Given the description of an element on the screen output the (x, y) to click on. 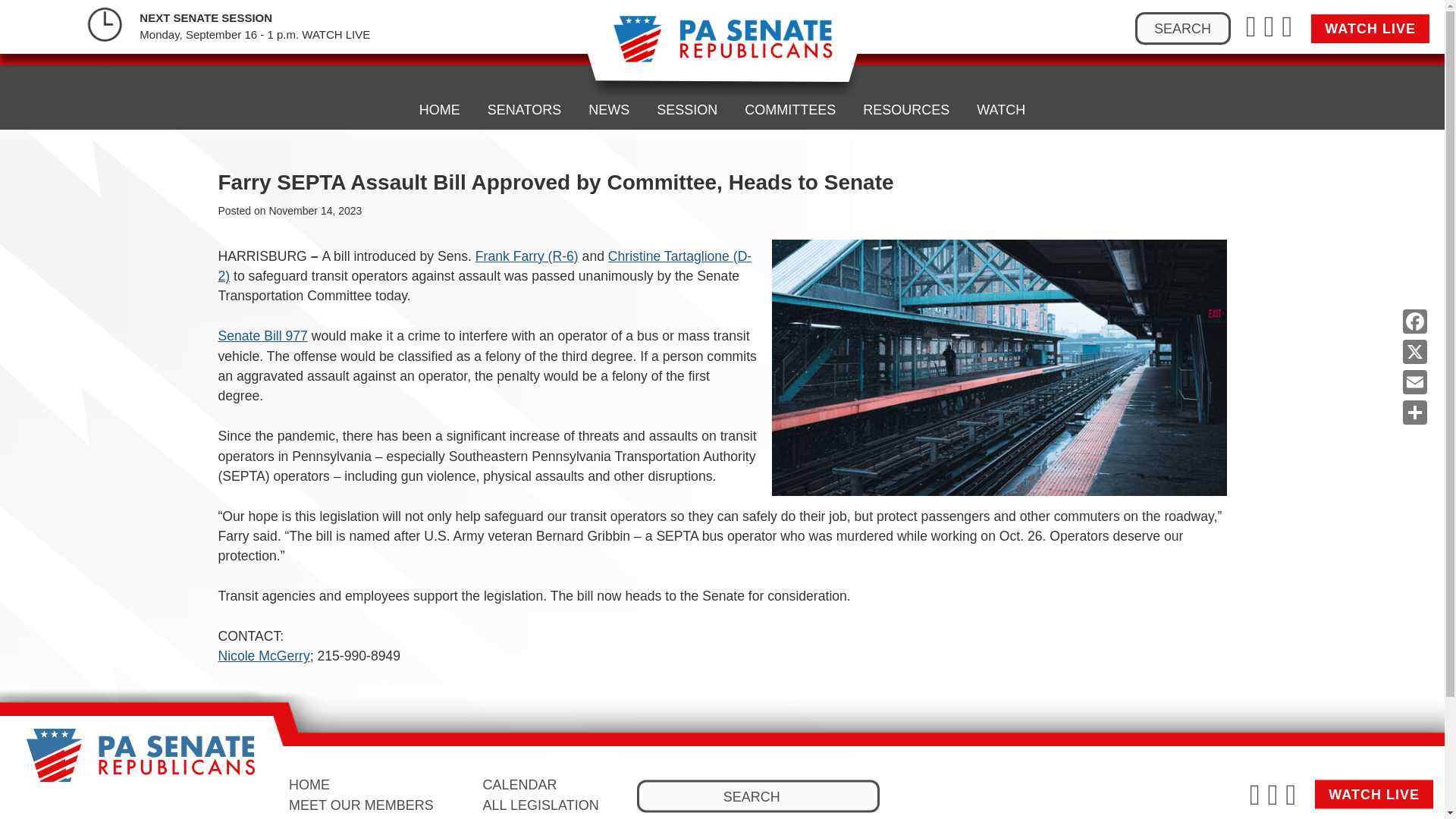
Search for: (758, 796)
Facebook (1414, 321)
SENATORS (524, 49)
HOME (440, 43)
X (1414, 351)
Search for: (1182, 28)
Email (1414, 381)
